Given the description of an element on the screen output the (x, y) to click on. 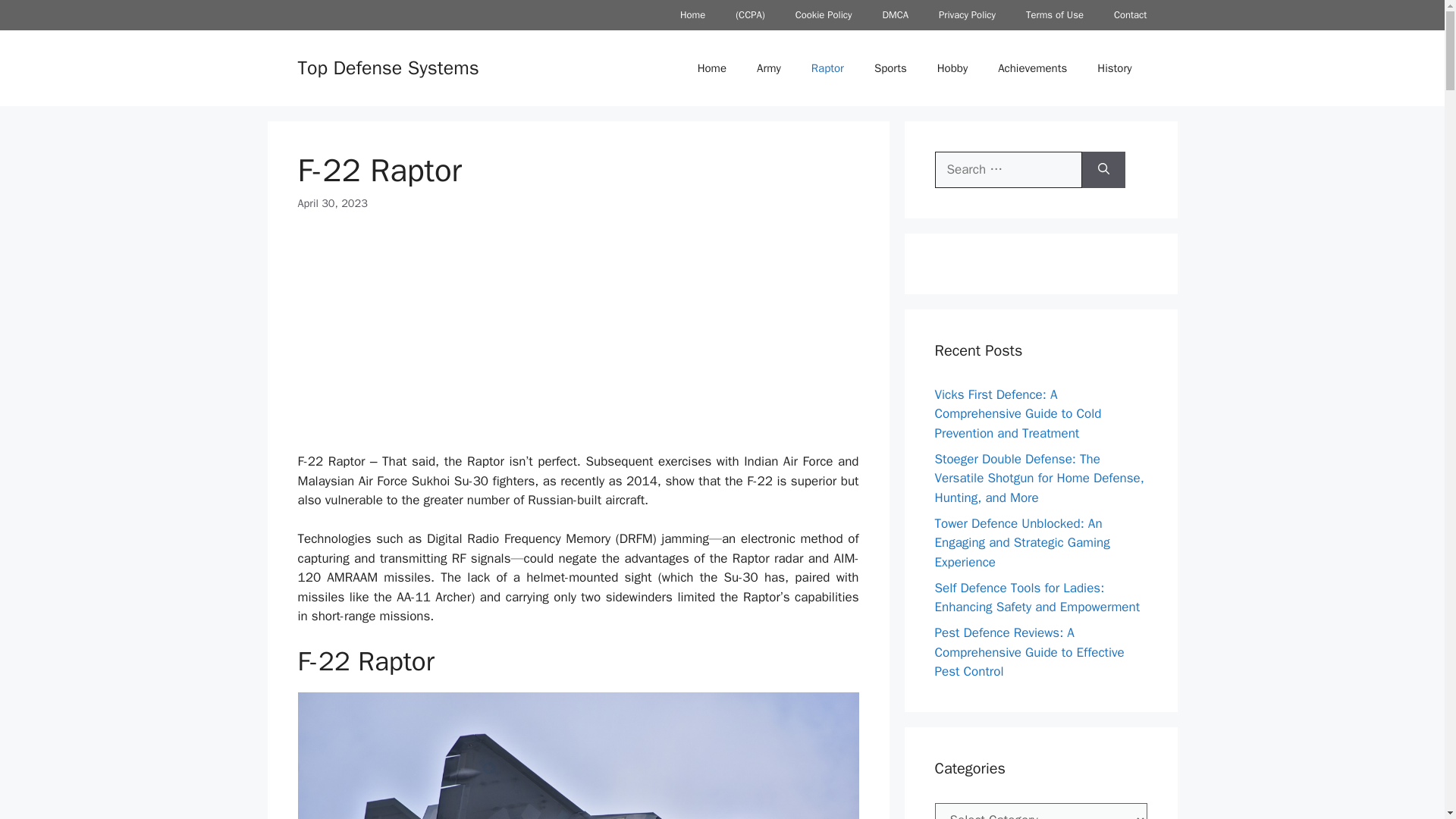
DMCA (894, 15)
Terms of Use (1054, 15)
F-22 Raptor (578, 755)
Advertisement (578, 343)
Army (768, 67)
History (1114, 67)
Privacy Policy (966, 15)
Search for: (1007, 169)
Cookie Policy (823, 15)
Raptor (827, 67)
